Given the description of an element on the screen output the (x, y) to click on. 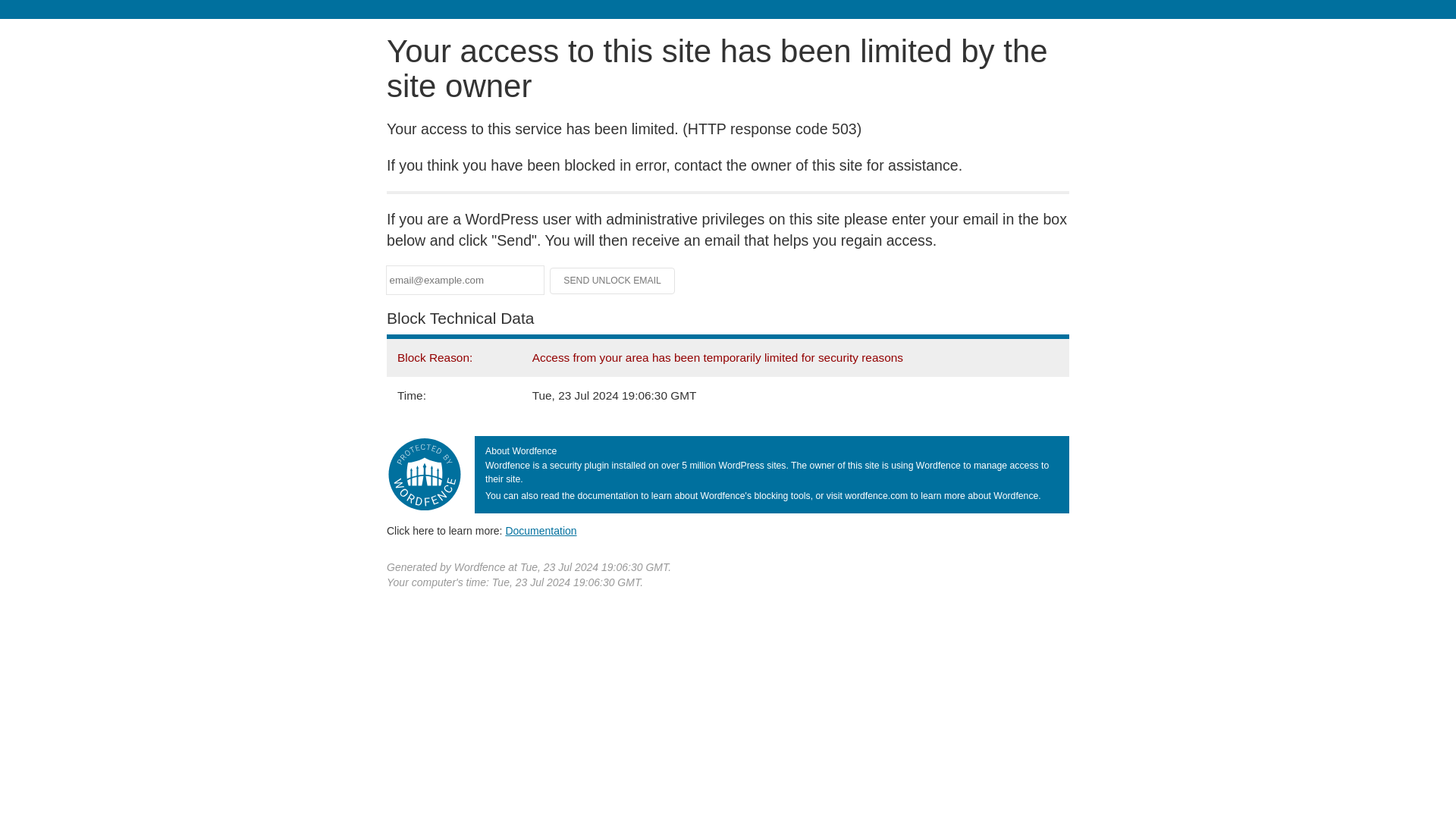
Send Unlock Email (612, 280)
Send Unlock Email (612, 280)
